Given the description of an element on the screen output the (x, y) to click on. 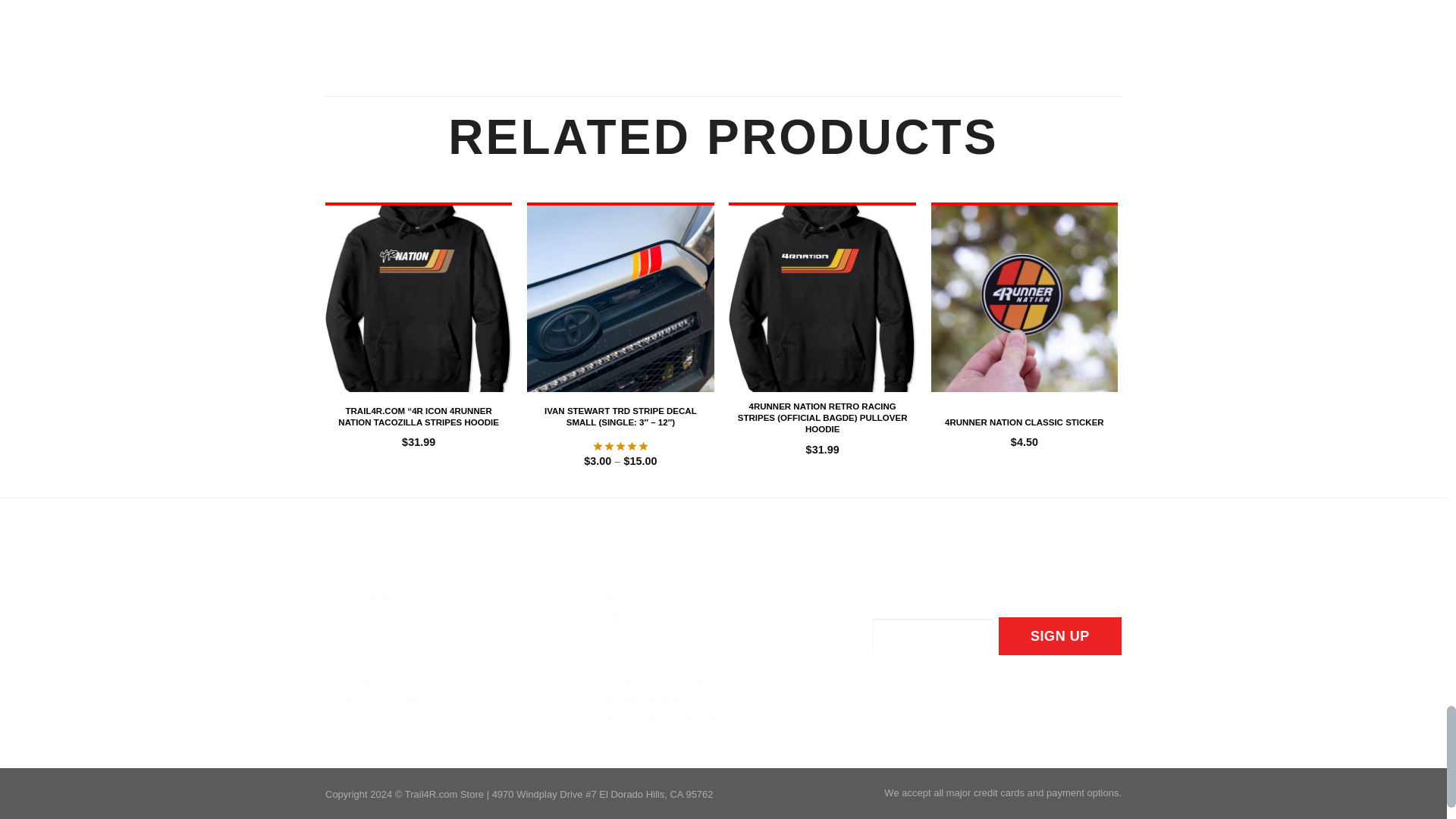
Sign up (1059, 636)
